Given the description of an element on the screen output the (x, y) to click on. 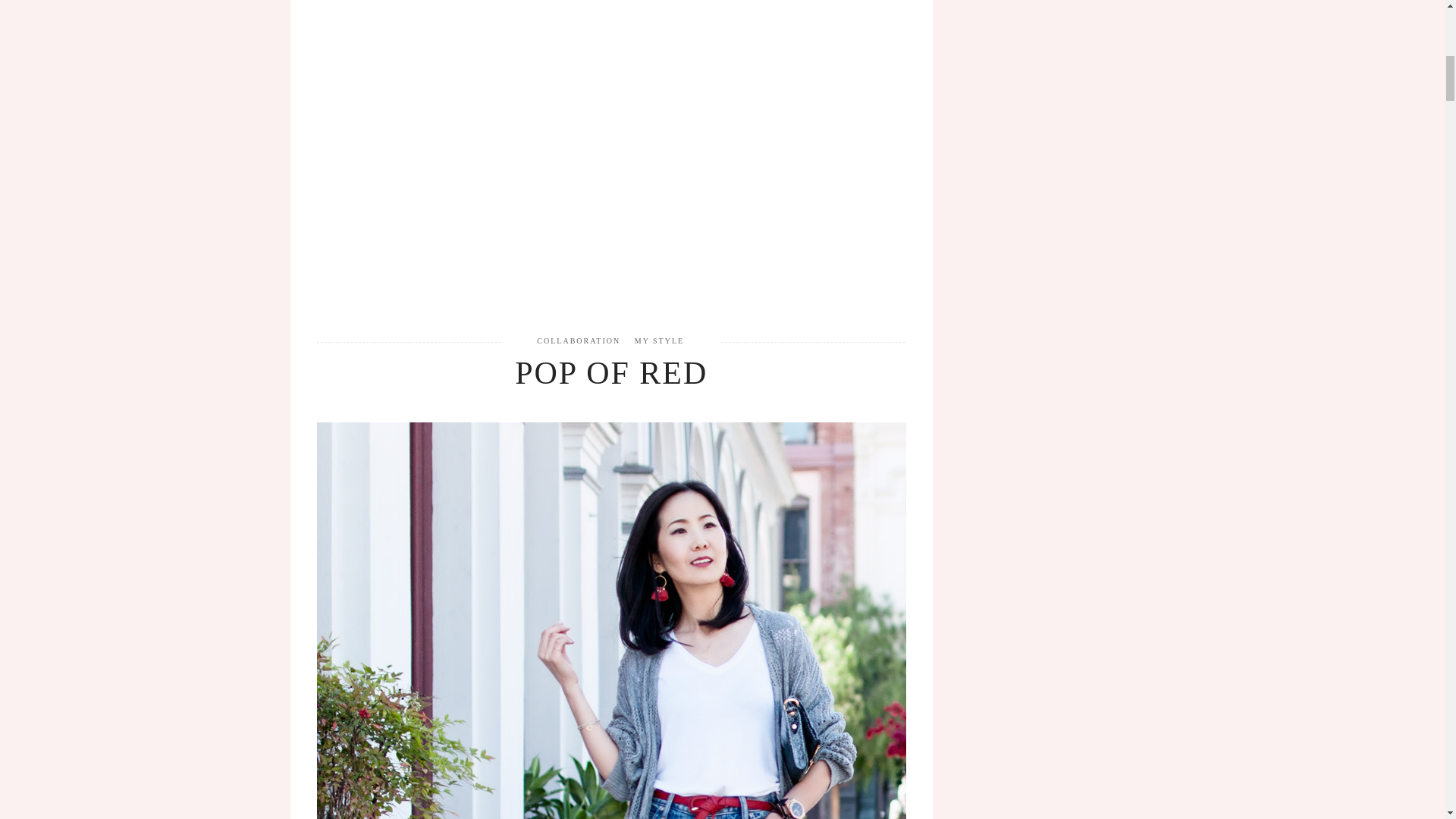
MY STYLE (659, 340)
COLLABORATION (578, 340)
